Given the description of an element on the screen output the (x, y) to click on. 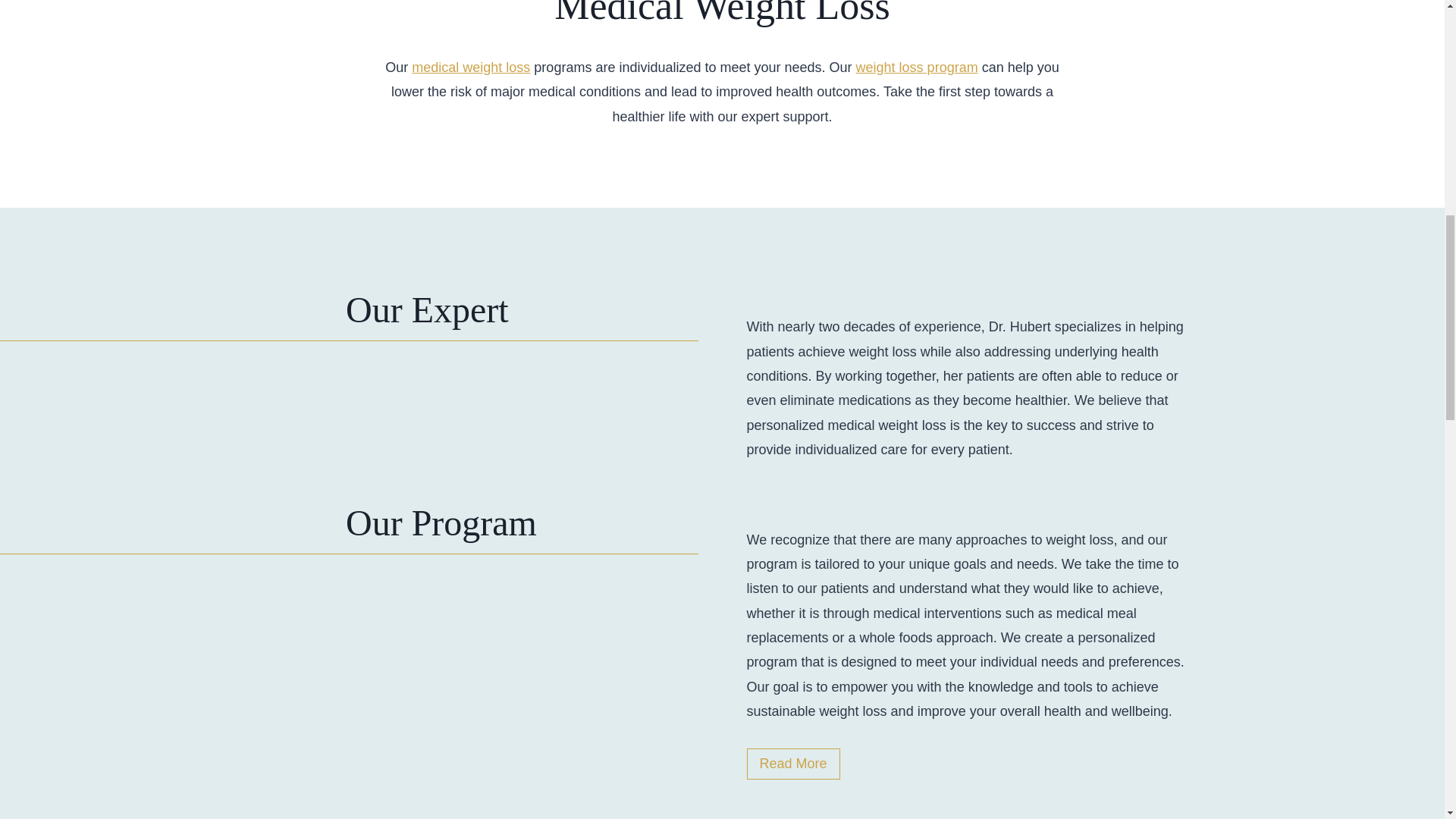
weight loss program (917, 67)
medical weight loss (470, 67)
Read More (792, 763)
